Given the description of an element on the screen output the (x, y) to click on. 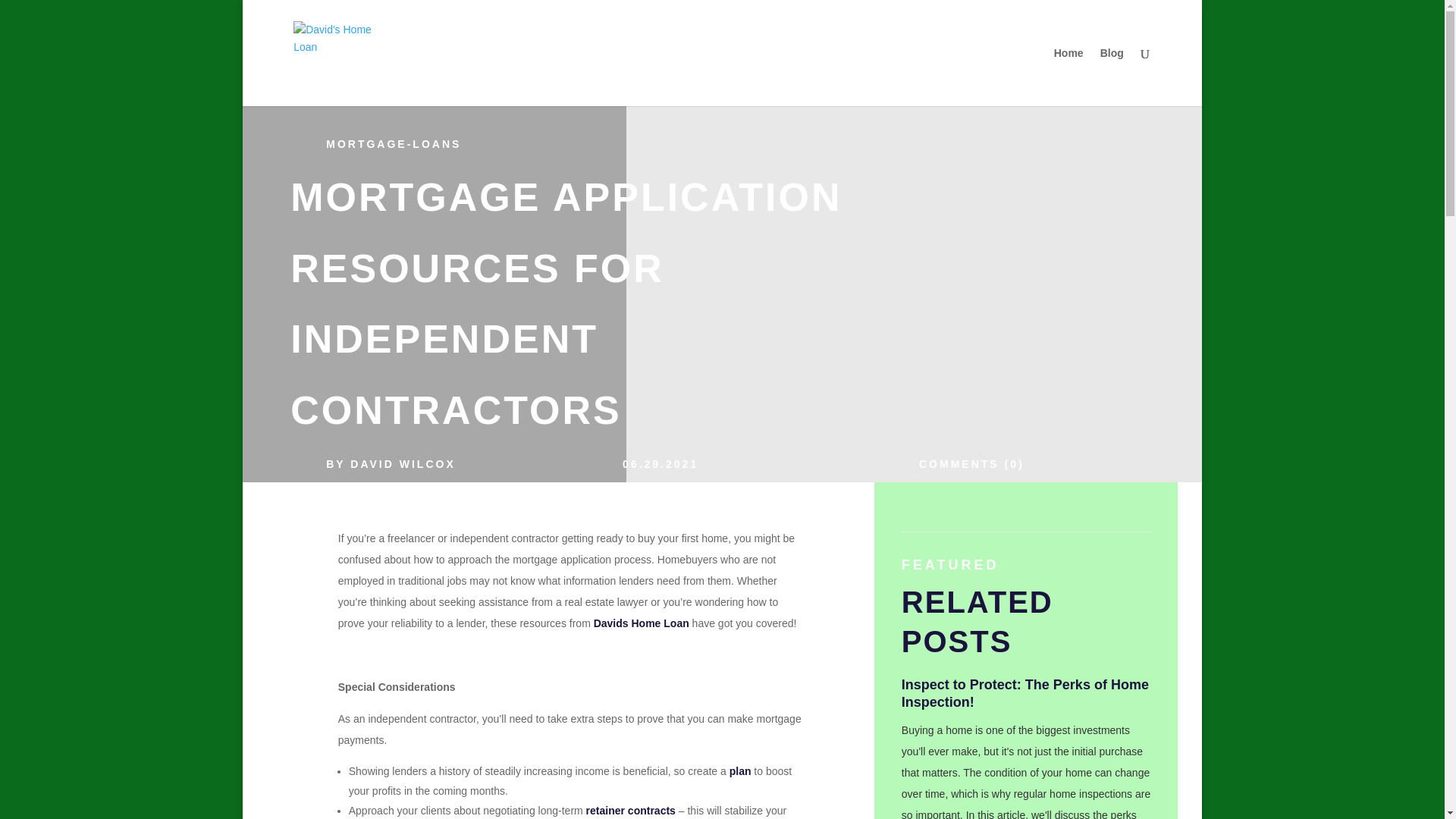
Inspect to Protect: The Perks of Home Inspection! (1024, 693)
Davids Home Loan (641, 623)
retainer contracts (630, 810)
plan (740, 770)
MORTGAGE-LOANS (393, 143)
